Given the description of an element on the screen output the (x, y) to click on. 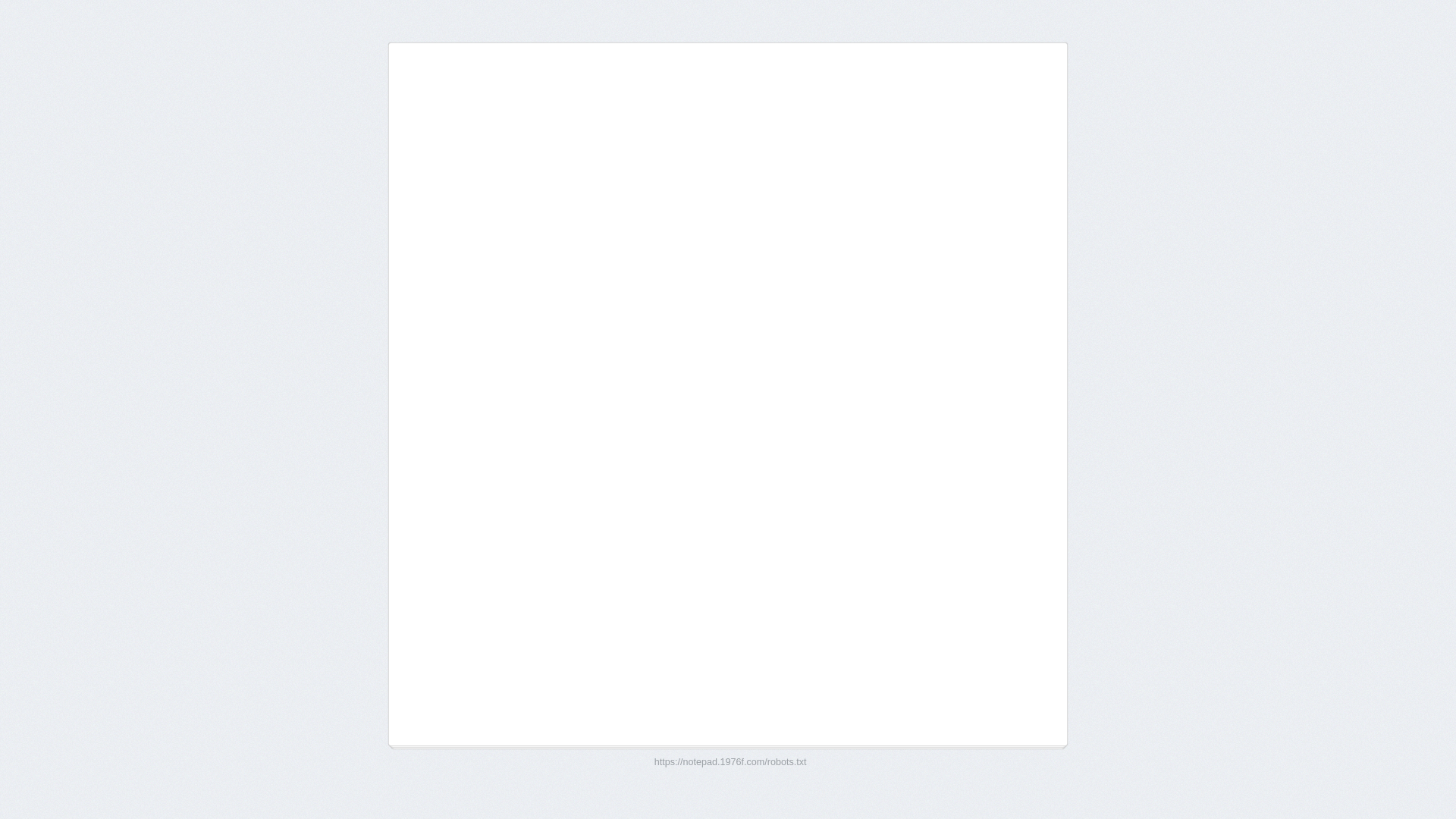
https://notepad.1976f.com/robots.txt Element type: text (730, 761)
